Given the description of an element on the screen output the (x, y) to click on. 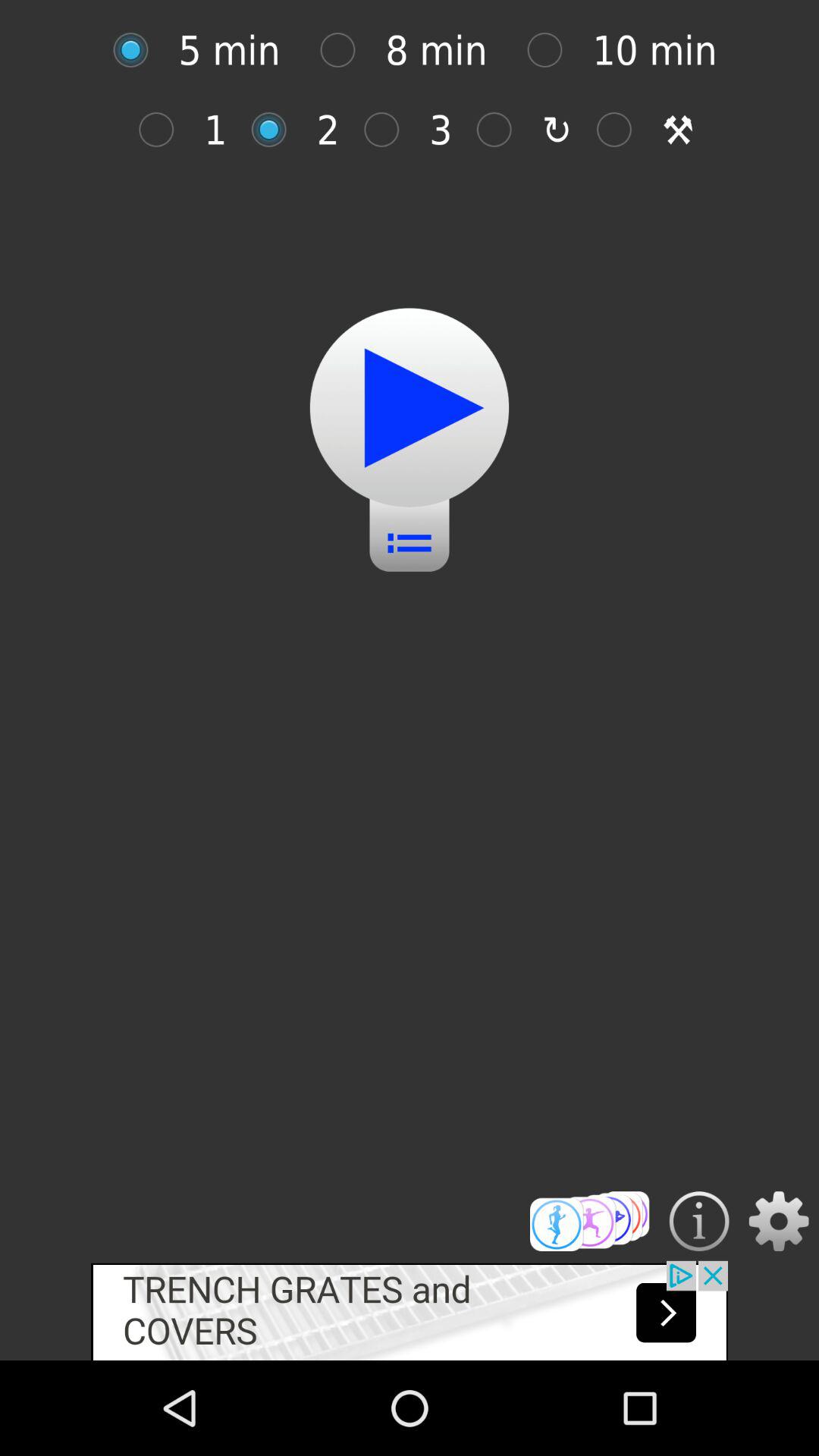
third video (389, 129)
